Given the description of an element on the screen output the (x, y) to click on. 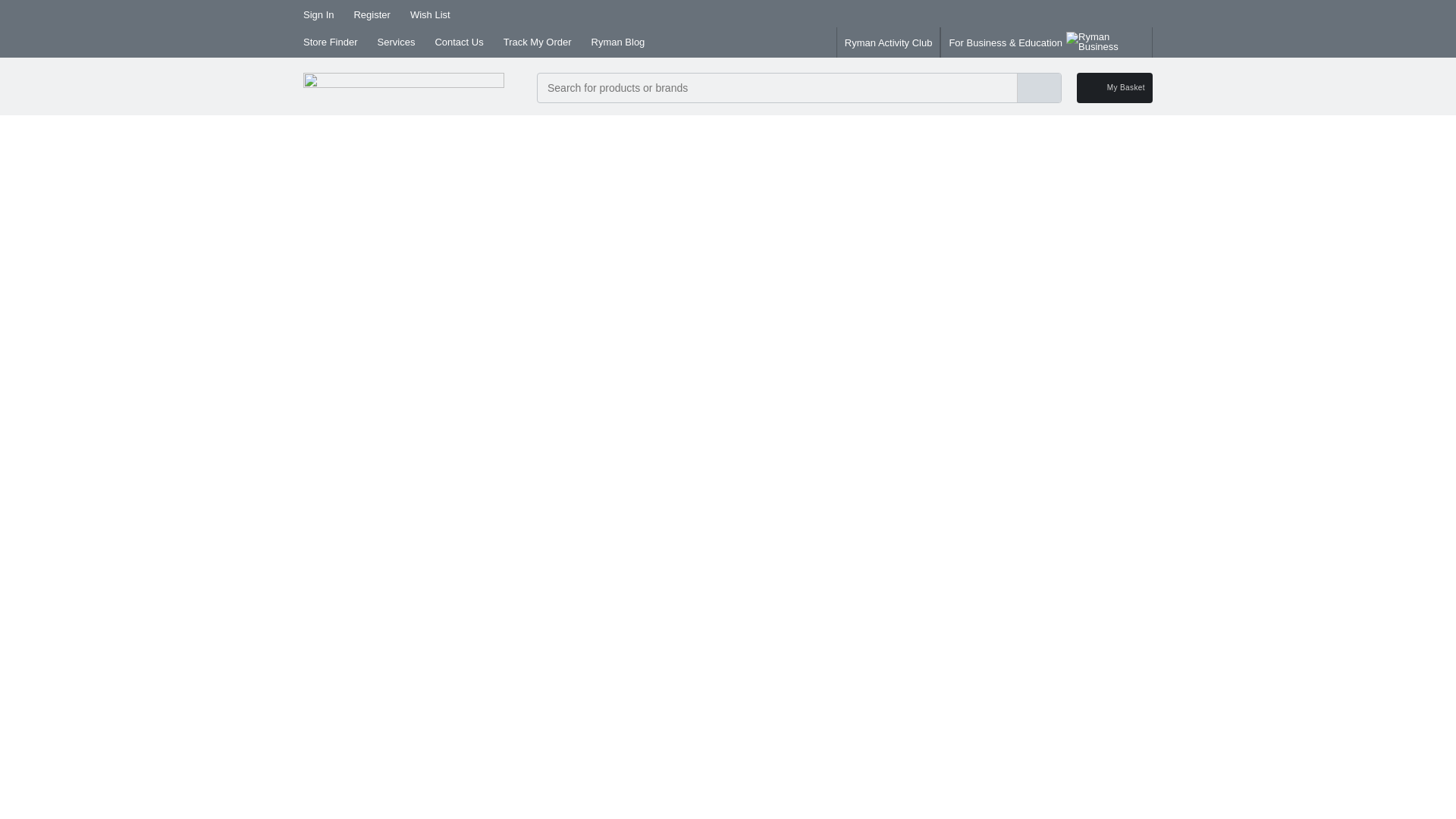
Search (1045, 88)
Ryman Activity Club (888, 42)
Search (1038, 87)
Services (395, 42)
Register (371, 14)
Contact Us (458, 42)
Wish List (429, 14)
Search (1038, 87)
Ryman Blog (618, 42)
Sign In (317, 14)
My Basket (1115, 87)
Track My Order (537, 42)
Store Finder (330, 42)
